Given the description of an element on the screen output the (x, y) to click on. 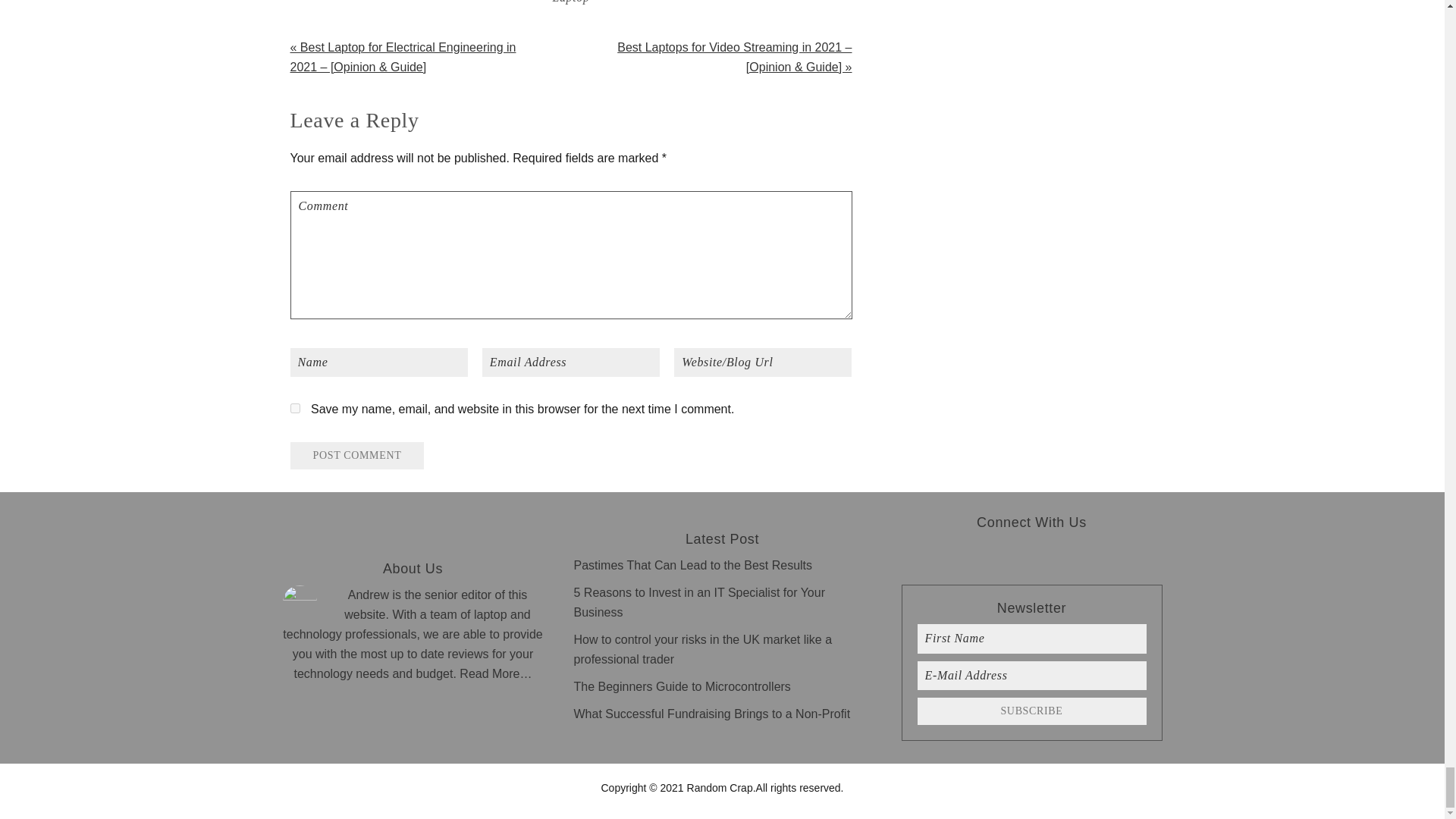
Post Comment (356, 455)
yes (294, 408)
Subscribe (1032, 710)
